Given the description of an element on the screen output the (x, y) to click on. 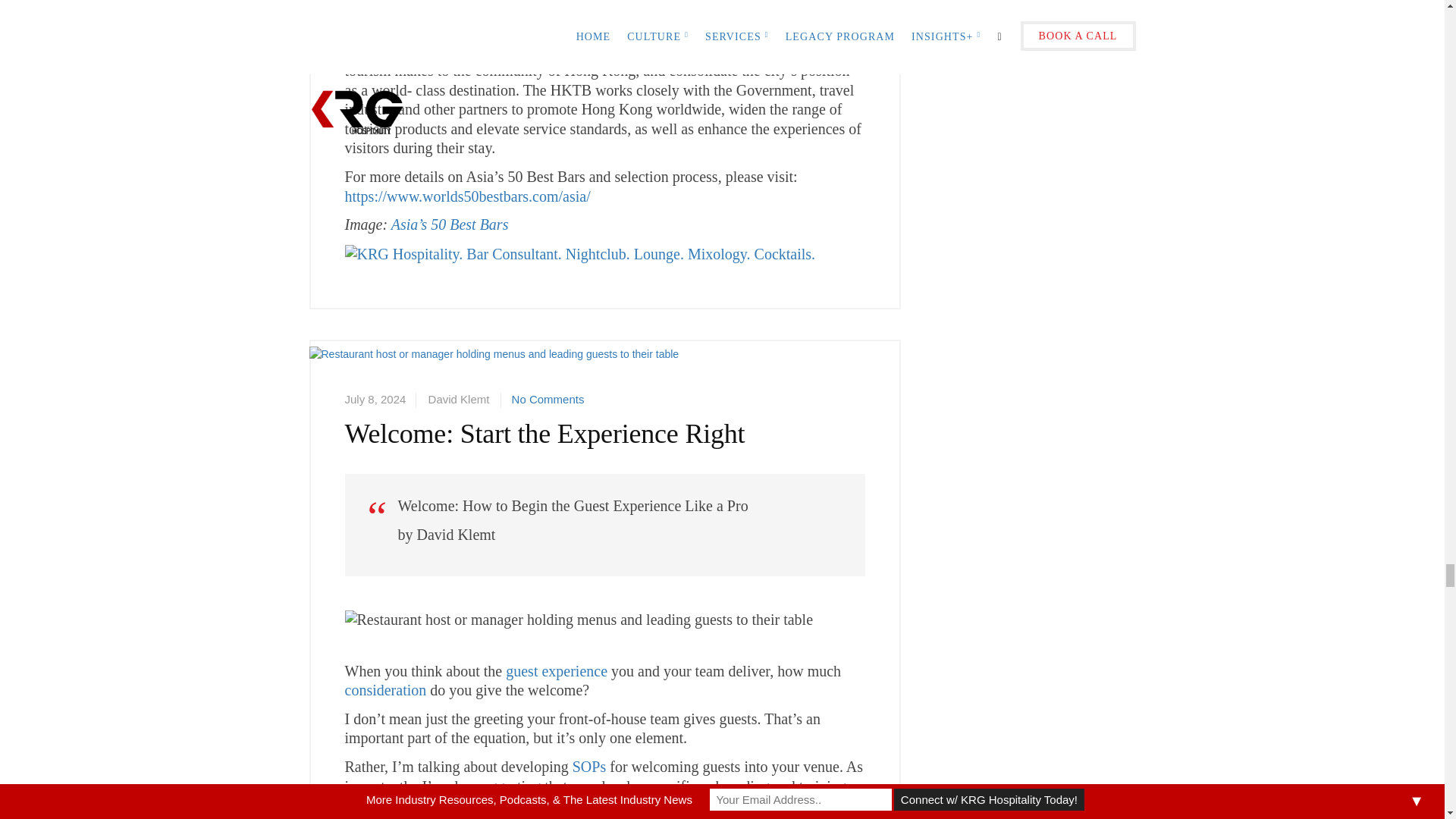
Welcome: Start the Experience Right (493, 382)
